Given the description of an element on the screen output the (x, y) to click on. 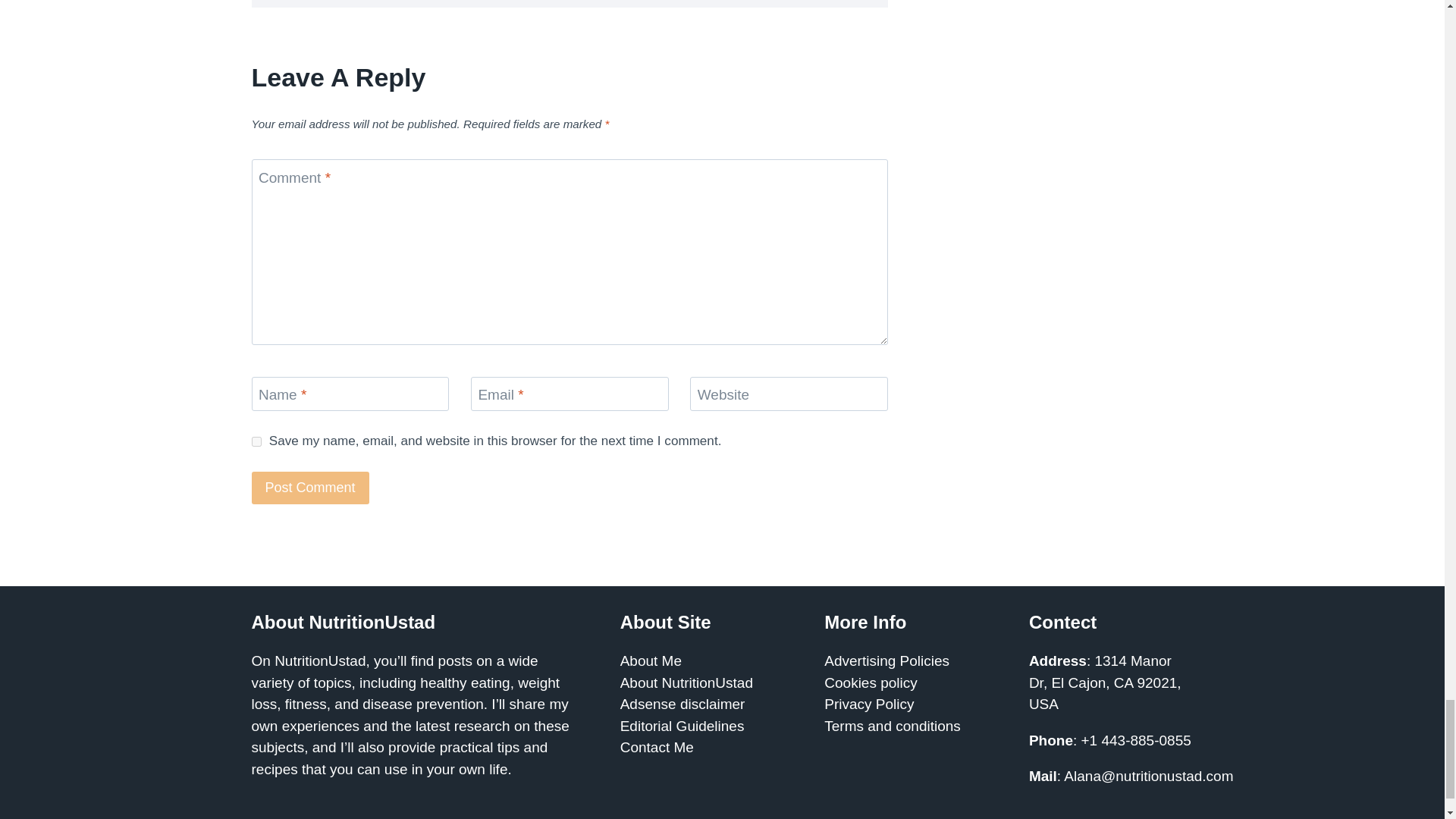
yes (256, 441)
Post Comment (310, 487)
